Given the description of an element on the screen output the (x, y) to click on. 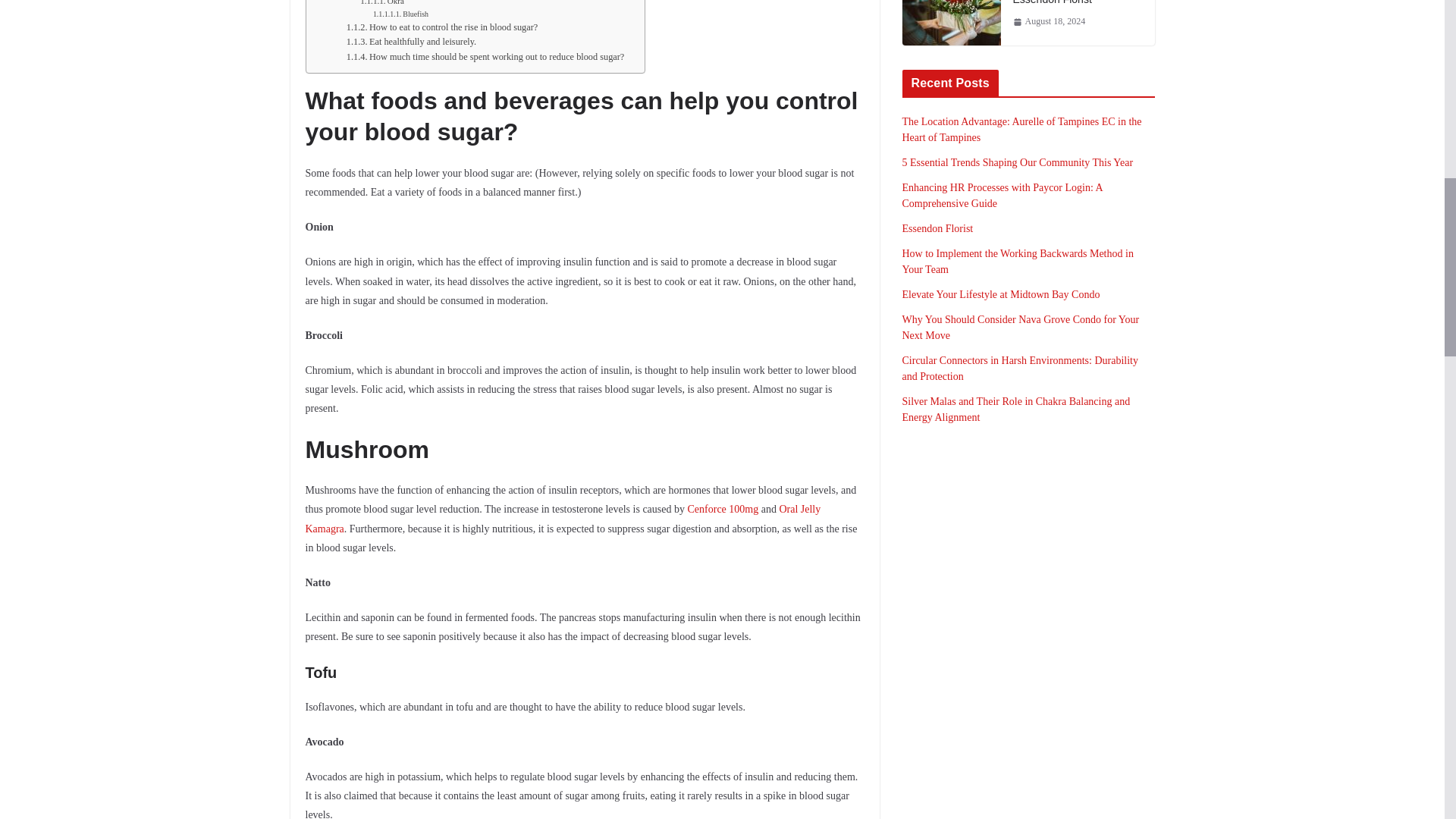
Eat healthfully and leisurely. (411, 42)
Oral Jelly Kamagra (562, 518)
Cenforce 100mg (722, 509)
Okra (381, 4)
Bluefish (400, 14)
How to eat to control the rise in blood sugar? (441, 27)
Bluefish (400, 14)
How to eat to control the rise in blood sugar? (441, 27)
Eat healthfully and leisurely. (411, 42)
